Given the description of an element on the screen output the (x, y) to click on. 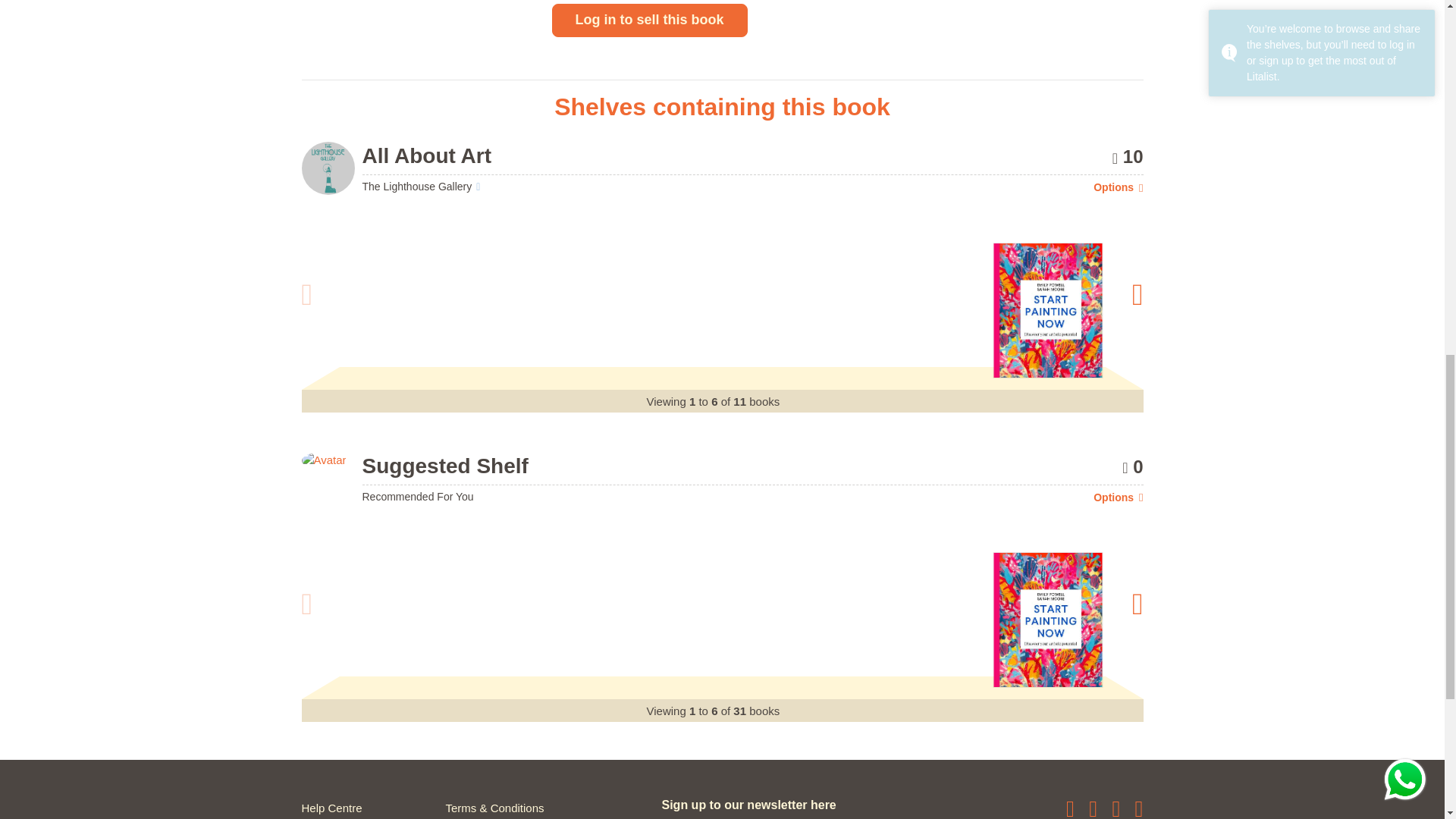
Log in to sell this book (649, 20)
The Lighthouse Gallery (421, 186)
Options (1117, 186)
10 (1127, 156)
